Given the description of an element on the screen output the (x, y) to click on. 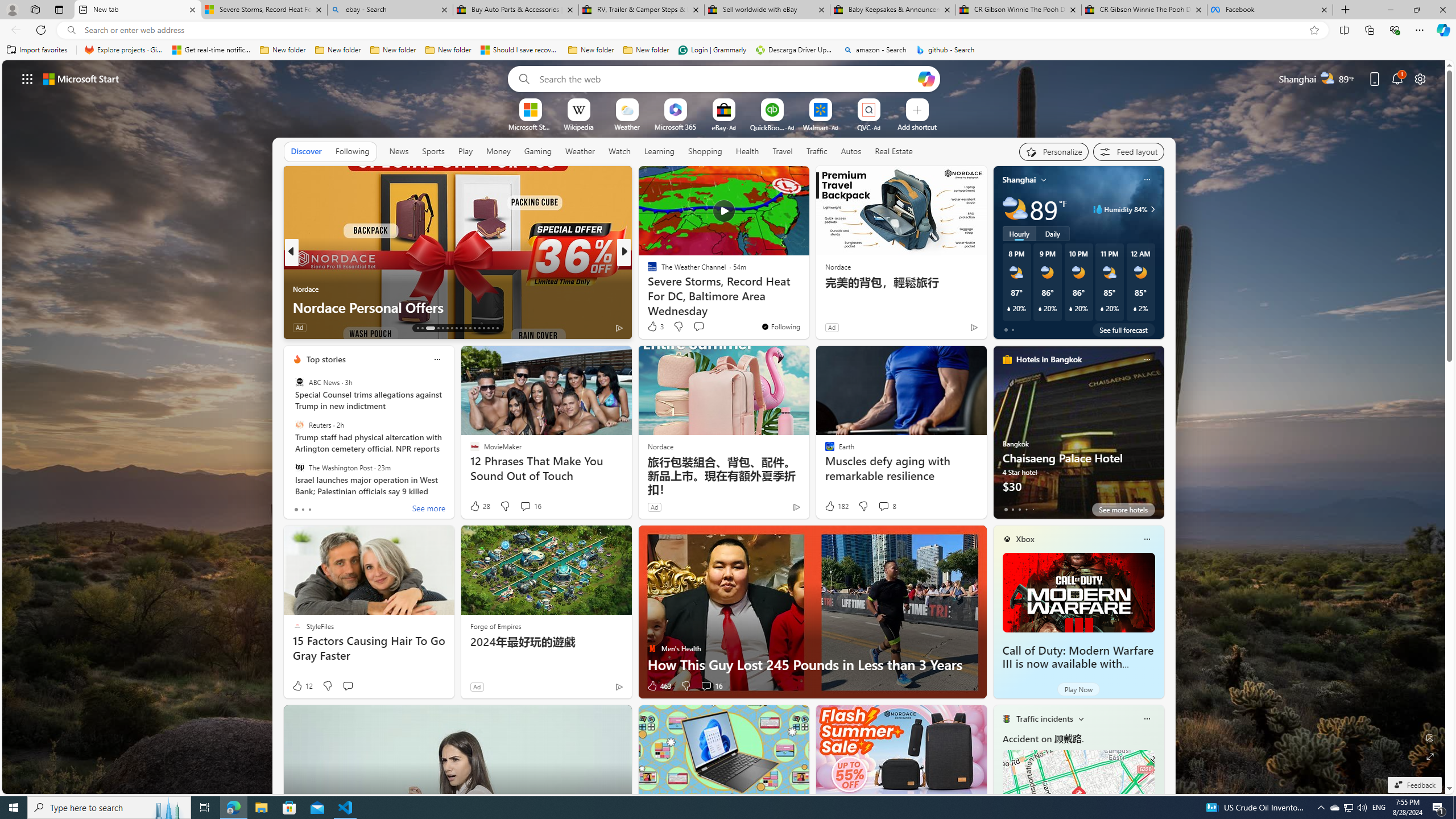
Favorites bar (728, 49)
AutomationID: tab-15 (429, 328)
See more hotels (1123, 509)
AutomationID: tab-23 (470, 328)
Hourly (1018, 233)
Chaisaeng Palace Hotel (1078, 436)
99 Like (652, 327)
